Given the description of an element on the screen output the (x, y) to click on. 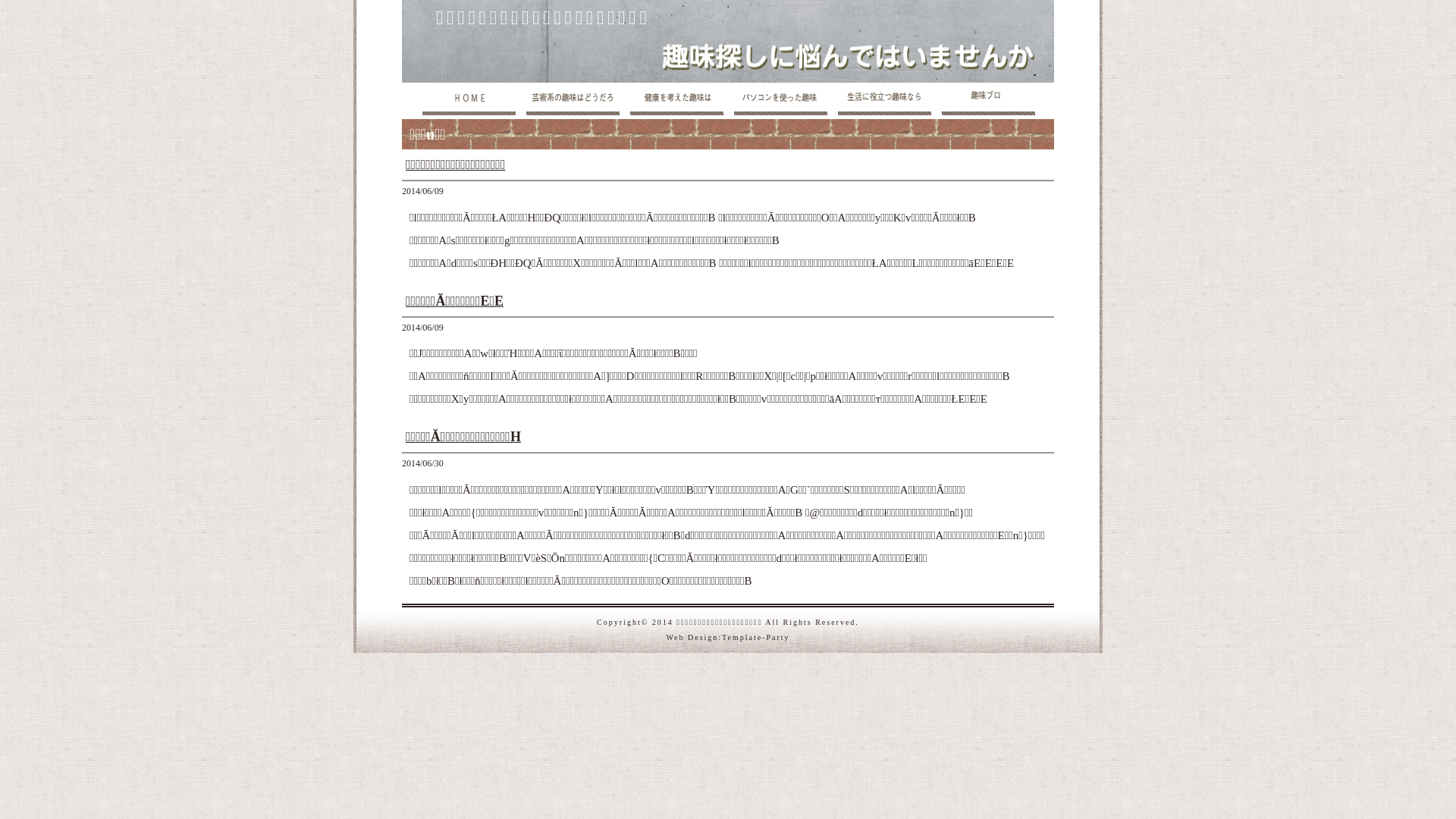
Web Design:Template-Party Element type: text (727, 636)
